Given the description of an element on the screen output the (x, y) to click on. 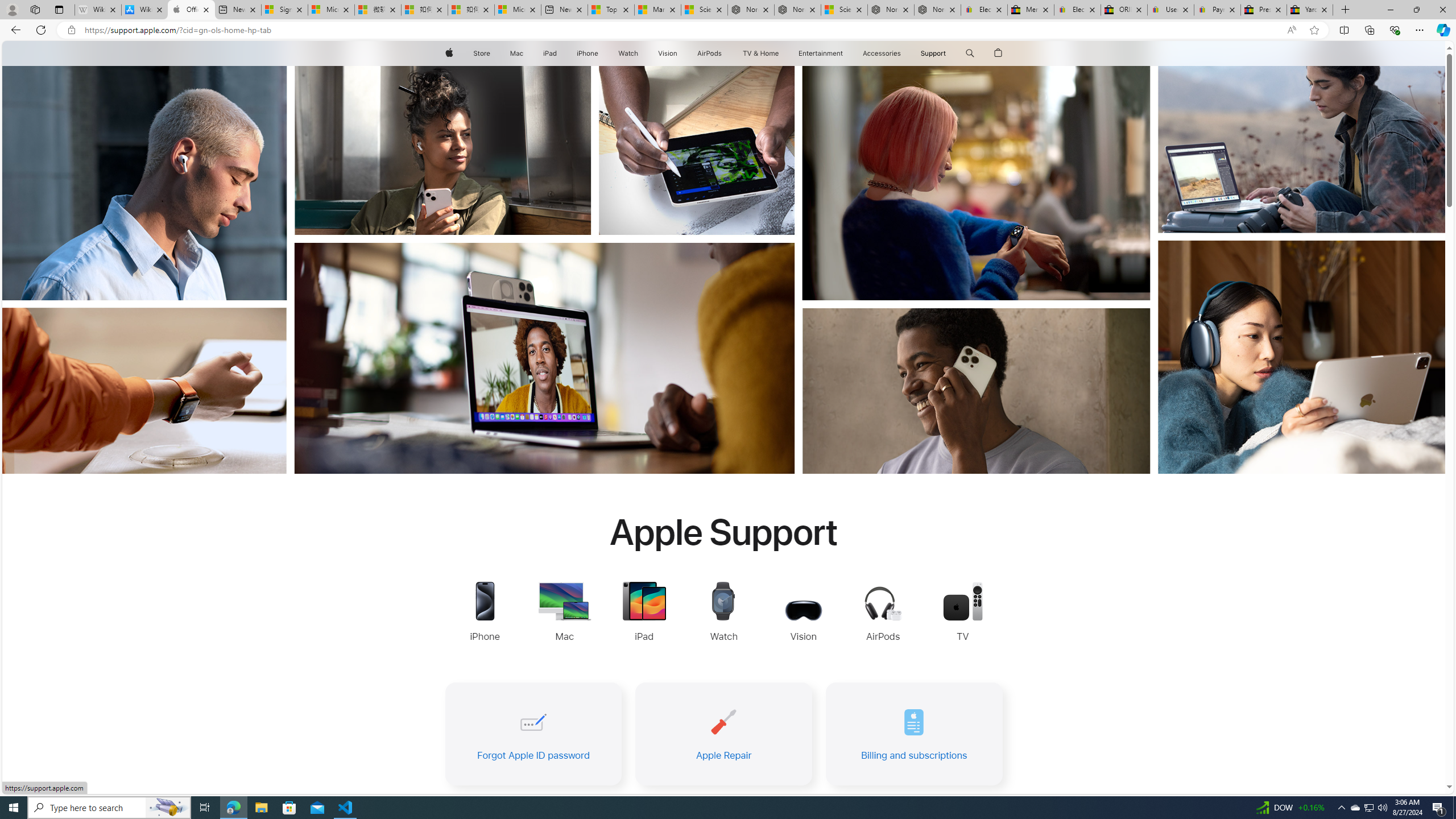
Accessories (881, 53)
Store (481, 53)
AirPods Support (882, 615)
Apple Repair (723, 734)
Forgot Apple ID password (532, 734)
Apple (448, 53)
